Given the description of an element on the screen output the (x, y) to click on. 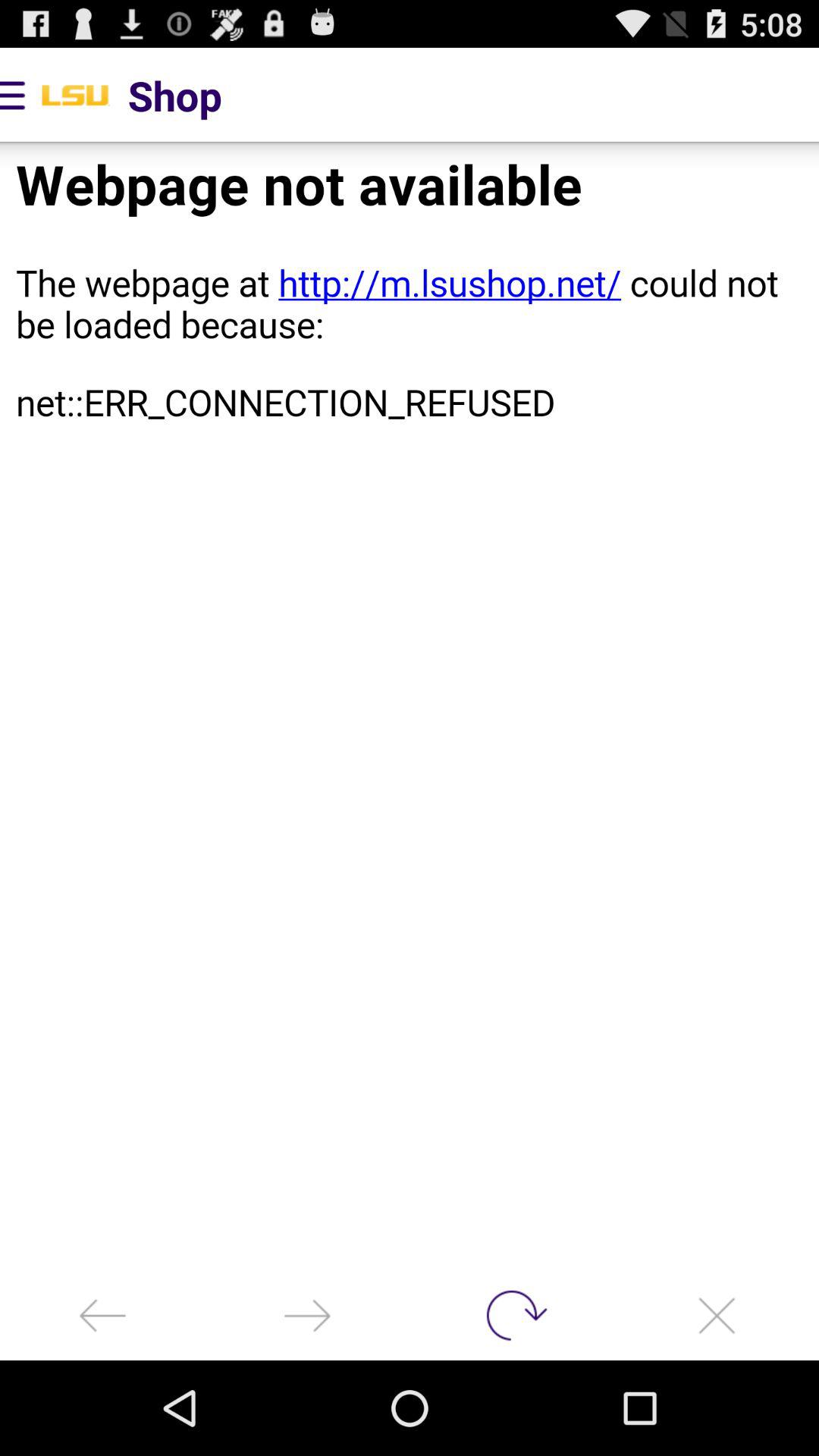
previous page (306, 1315)
